Given the description of an element on the screen output the (x, y) to click on. 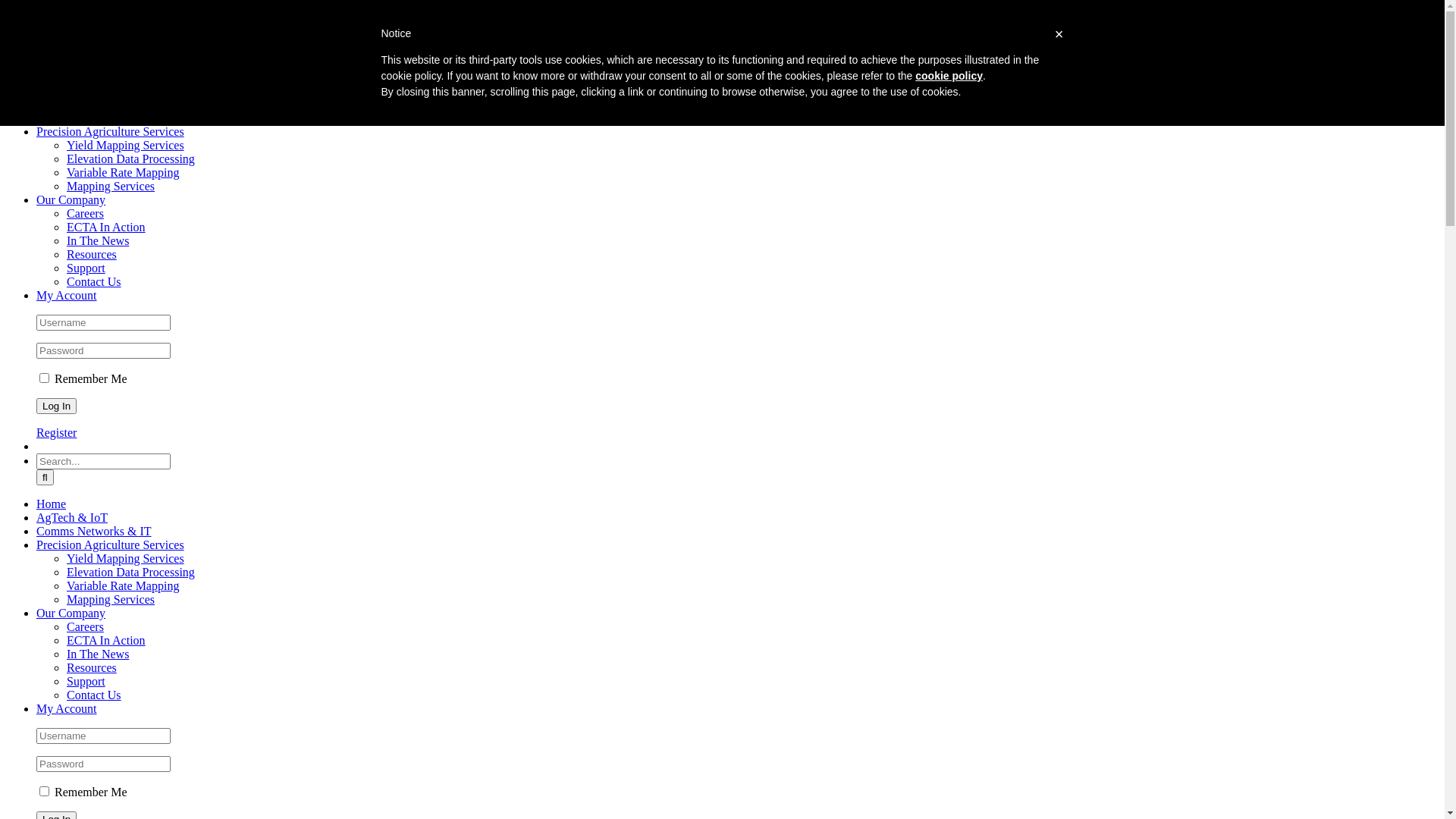
Contact Us Element type: text (93, 694)
Support Element type: text (85, 267)
Elevation Data Processing Element type: text (130, 158)
Skip to content Element type: text (5, 5)
Comms Networks & IT Element type: text (93, 117)
Support Element type: text (85, 680)
ECTA In Action Element type: text (105, 226)
Precision Agriculture Services Element type: text (110, 544)
Log In Element type: text (56, 406)
Resources Element type: text (91, 667)
Mapping Services Element type: text (110, 185)
Elevation Data Processing Element type: text (130, 571)
ECTA In Action Element type: text (105, 639)
Resources Element type: text (91, 253)
My Account Element type: text (66, 708)
In The News Element type: text (97, 653)
Precision Agriculture Services Element type: text (110, 131)
Careers Element type: text (84, 213)
Our Company Element type: text (70, 612)
AgTech & IoT Element type: text (71, 517)
Yield Mapping Services Element type: text (125, 558)
Comms Networks & IT Element type: text (93, 530)
Mapping Services Element type: text (110, 599)
My Account Element type: text (66, 294)
cookie policy Element type: text (948, 75)
Our Company Element type: text (70, 199)
Variable Rate Mapping Element type: text (122, 585)
AgTech & IoT Element type: text (71, 103)
Home Element type: text (50, 503)
Variable Rate Mapping Element type: text (122, 172)
Contact Us Element type: text (93, 281)
Careers Element type: text (84, 626)
In The News Element type: text (97, 240)
Home Element type: text (50, 90)
Register Element type: text (56, 432)
Yield Mapping Services Element type: text (125, 144)
info@envirocrop.com.au Element type: text (212, 12)
